Given the description of an element on the screen output the (x, y) to click on. 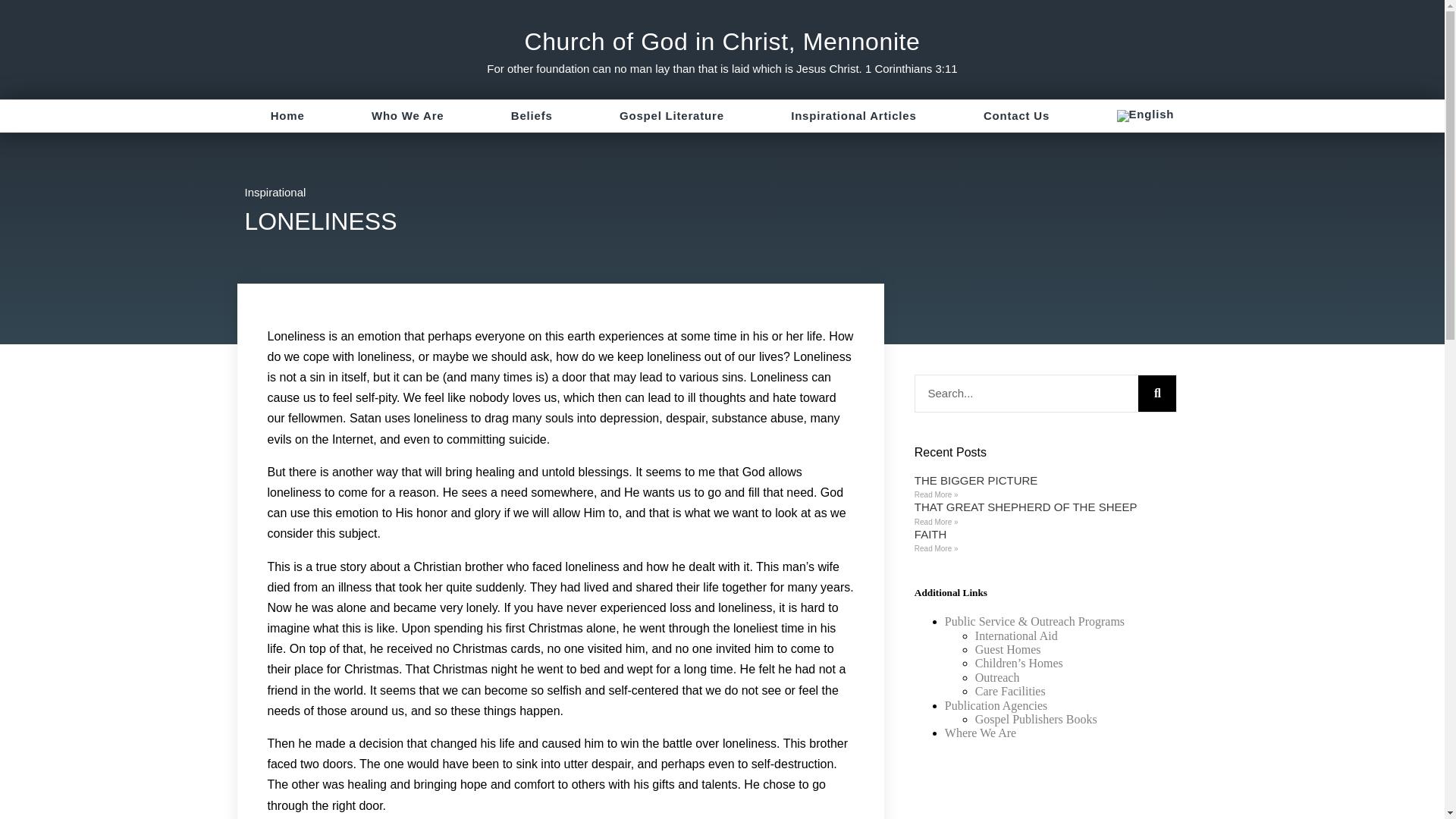
Contact Us (1016, 115)
Outreach (997, 676)
Gospel Publishers Books (1036, 718)
Home (286, 115)
Care Facilities (1010, 690)
THAT GREAT SHEPHERD OF THE SHEEP (1025, 506)
THE BIGGER PICTURE (976, 480)
Guest Homes (1008, 649)
Gospel Literature (671, 115)
FAITH (930, 533)
Where We Are (980, 732)
Inspirational Articles (853, 115)
Inspirational (274, 192)
Who We Are (407, 115)
Publication Agencies (996, 705)
